Given the description of an element on the screen output the (x, y) to click on. 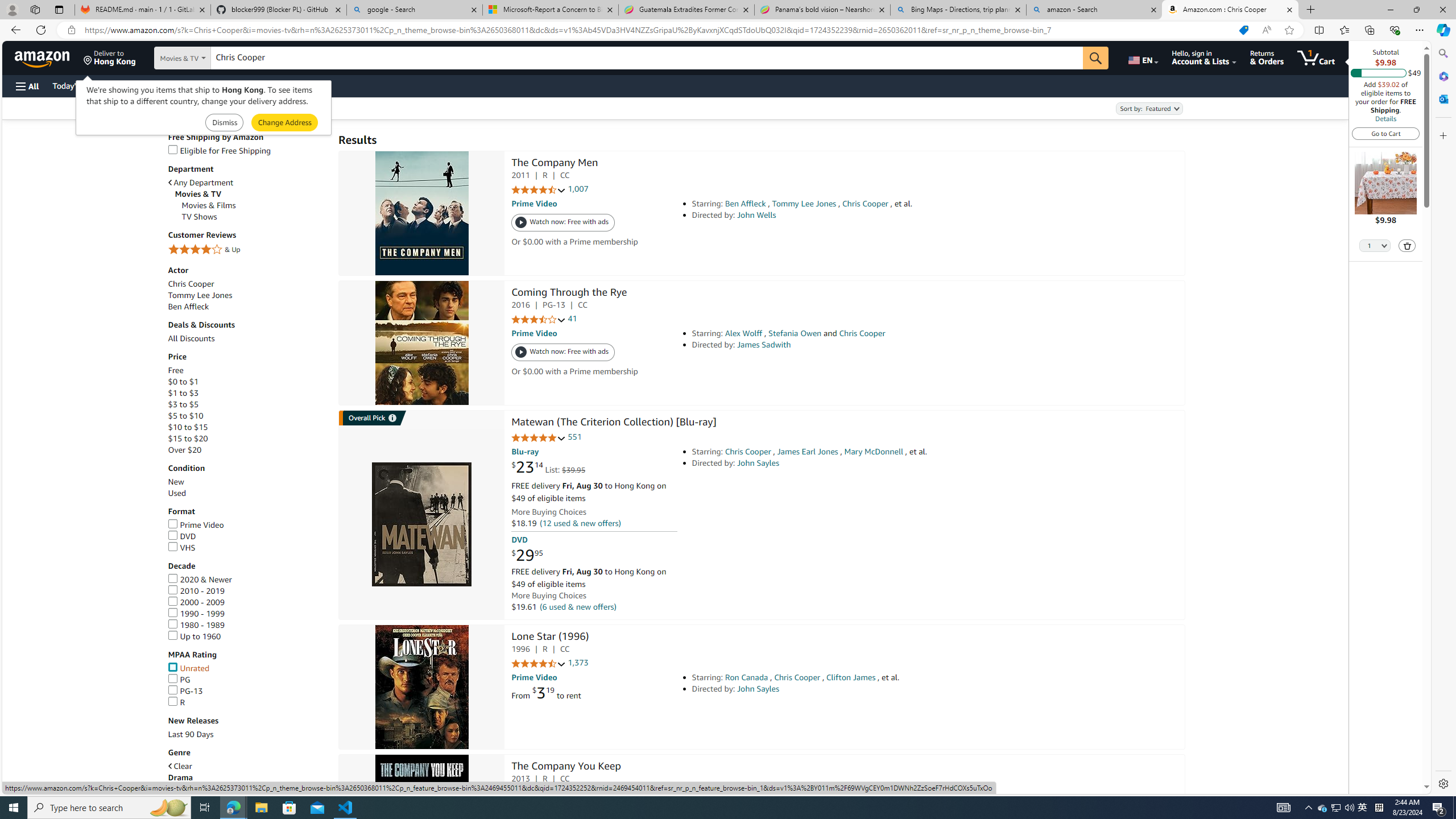
$0 to $1 (183, 381)
Stefania Owen (794, 333)
551 (574, 437)
Go back to filtering menu (48, 788)
TV Shows (254, 216)
Prime Video (195, 524)
Last 90 Days (190, 733)
James Sadwith (763, 344)
Drama (247, 777)
Matewan (The Criterion Collection) [Blu-ray] (613, 422)
Registry (205, 85)
